Given the description of an element on the screen output the (x, y) to click on. 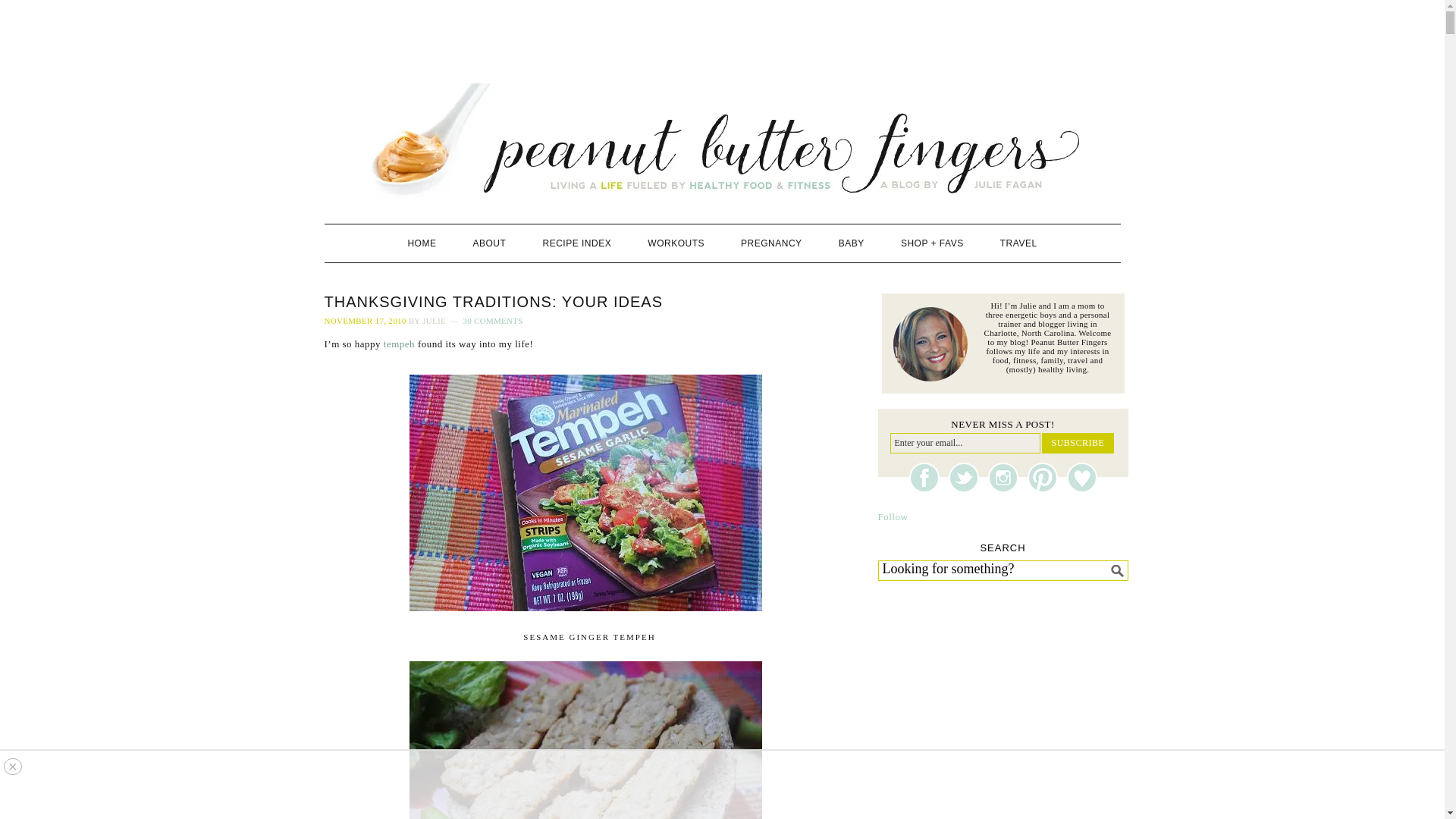
PEANUT BUTTER FINGERS (722, 141)
HOME (421, 243)
BABY (851, 243)
PREGNANCY (770, 243)
7 (585, 492)
RECIPE INDEX (576, 243)
TRAVEL (1019, 243)
